Given the description of an element on the screen output the (x, y) to click on. 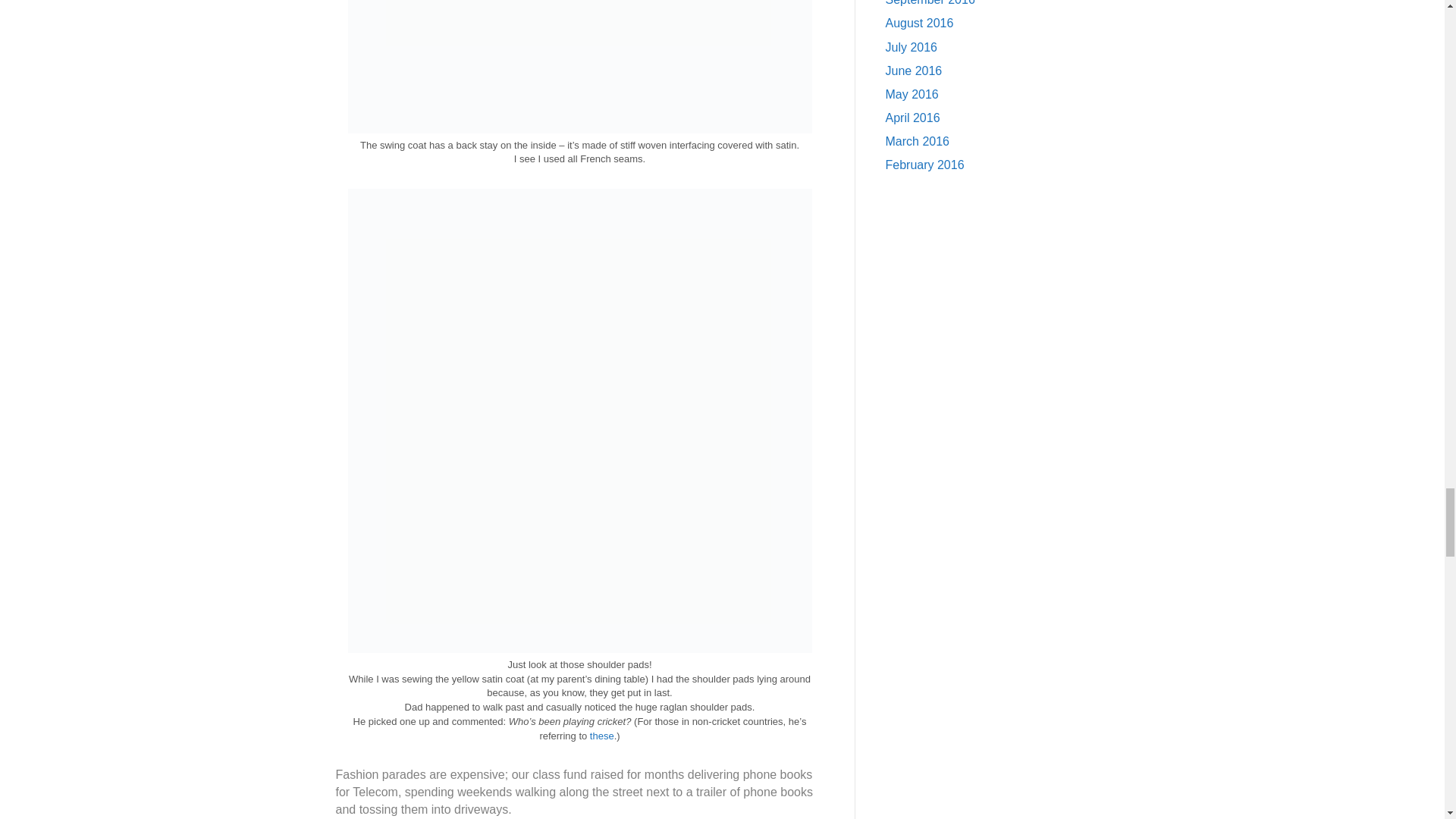
these (601, 736)
